Given the description of an element on the screen output the (x, y) to click on. 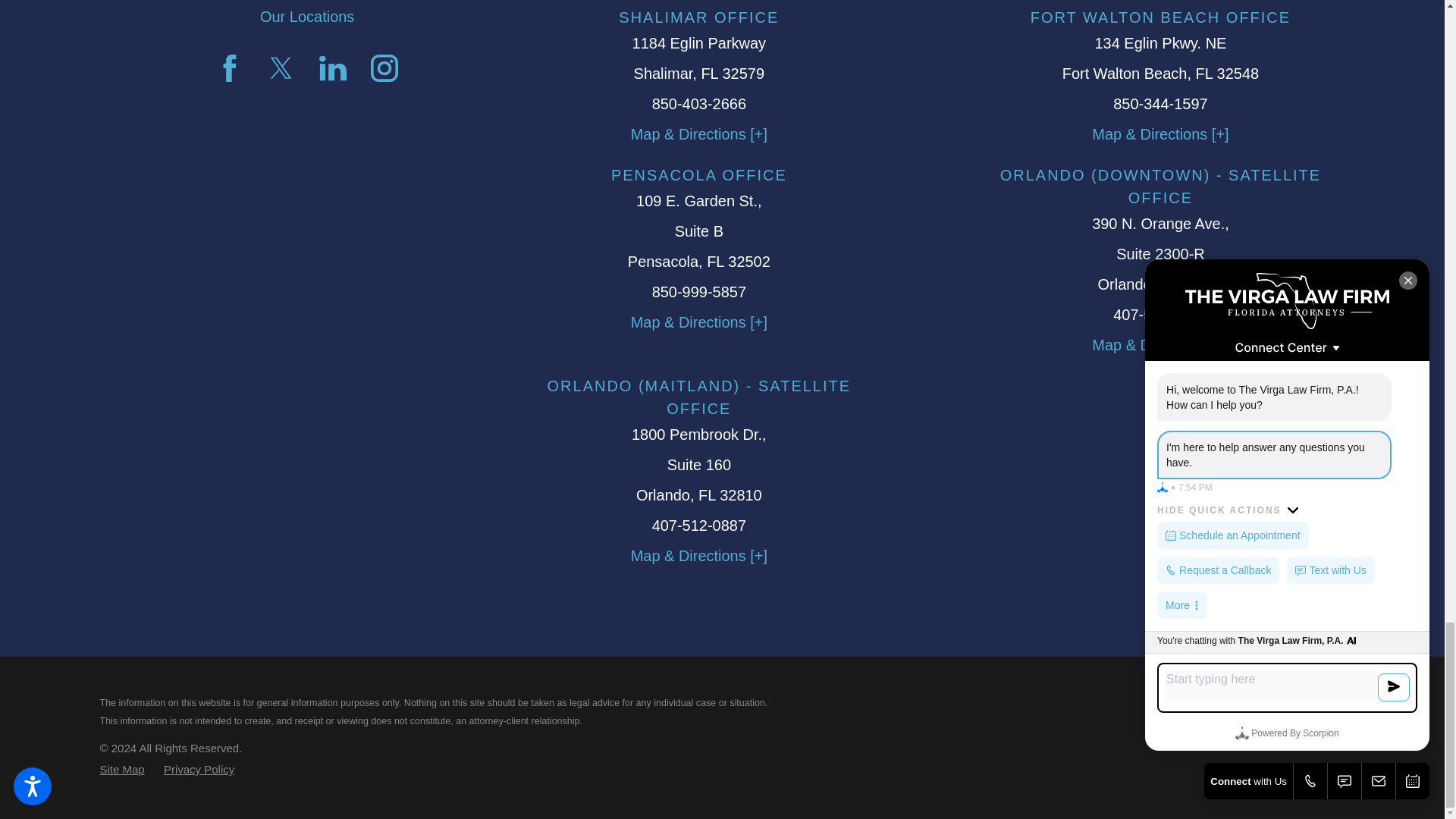
Twitter (281, 67)
LinkedIn (332, 67)
Instagram (384, 67)
Facebook (229, 67)
